Given the description of an element on the screen output the (x, y) to click on. 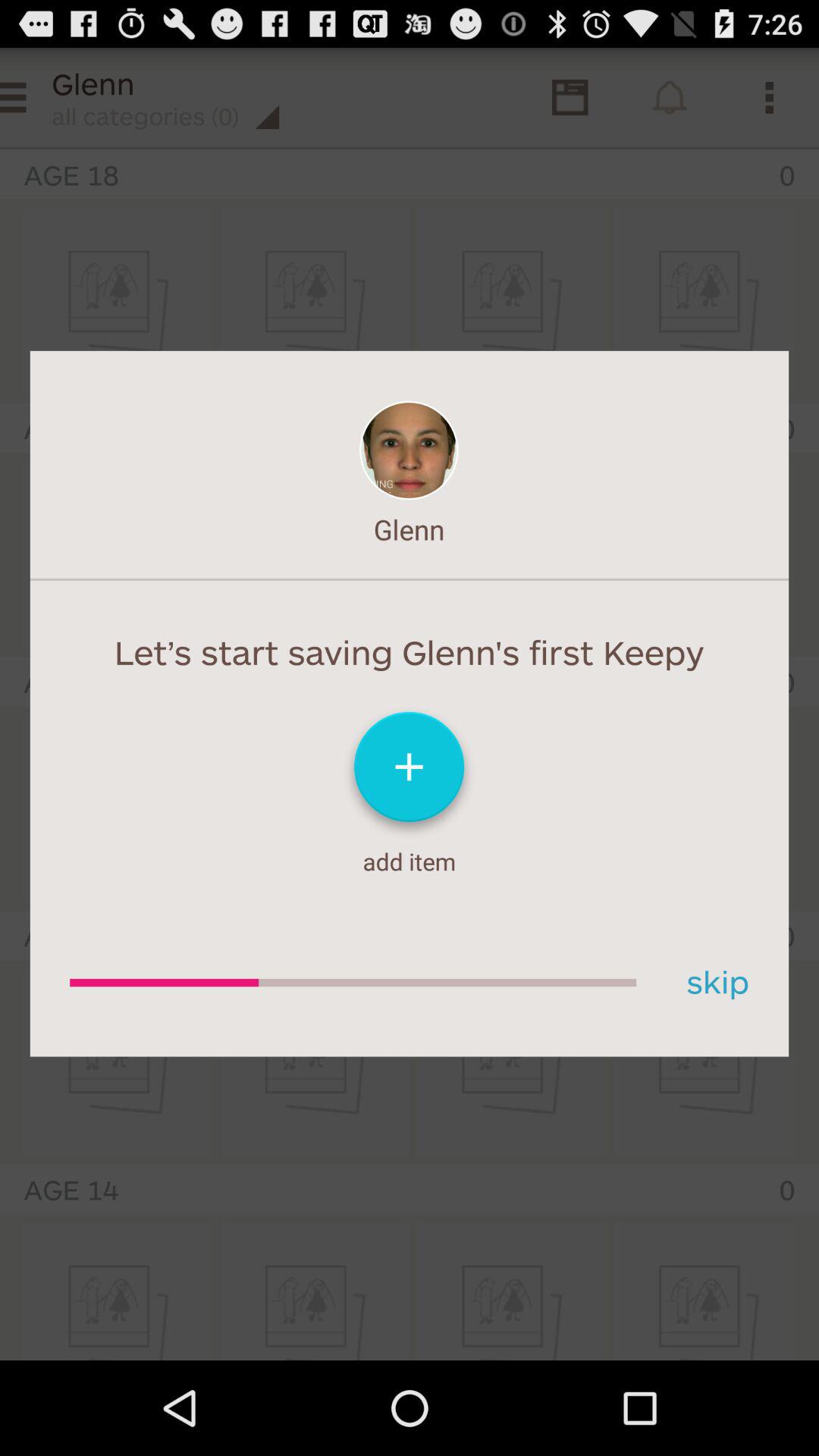
select the skip app (712, 982)
